Given the description of an element on the screen output the (x, y) to click on. 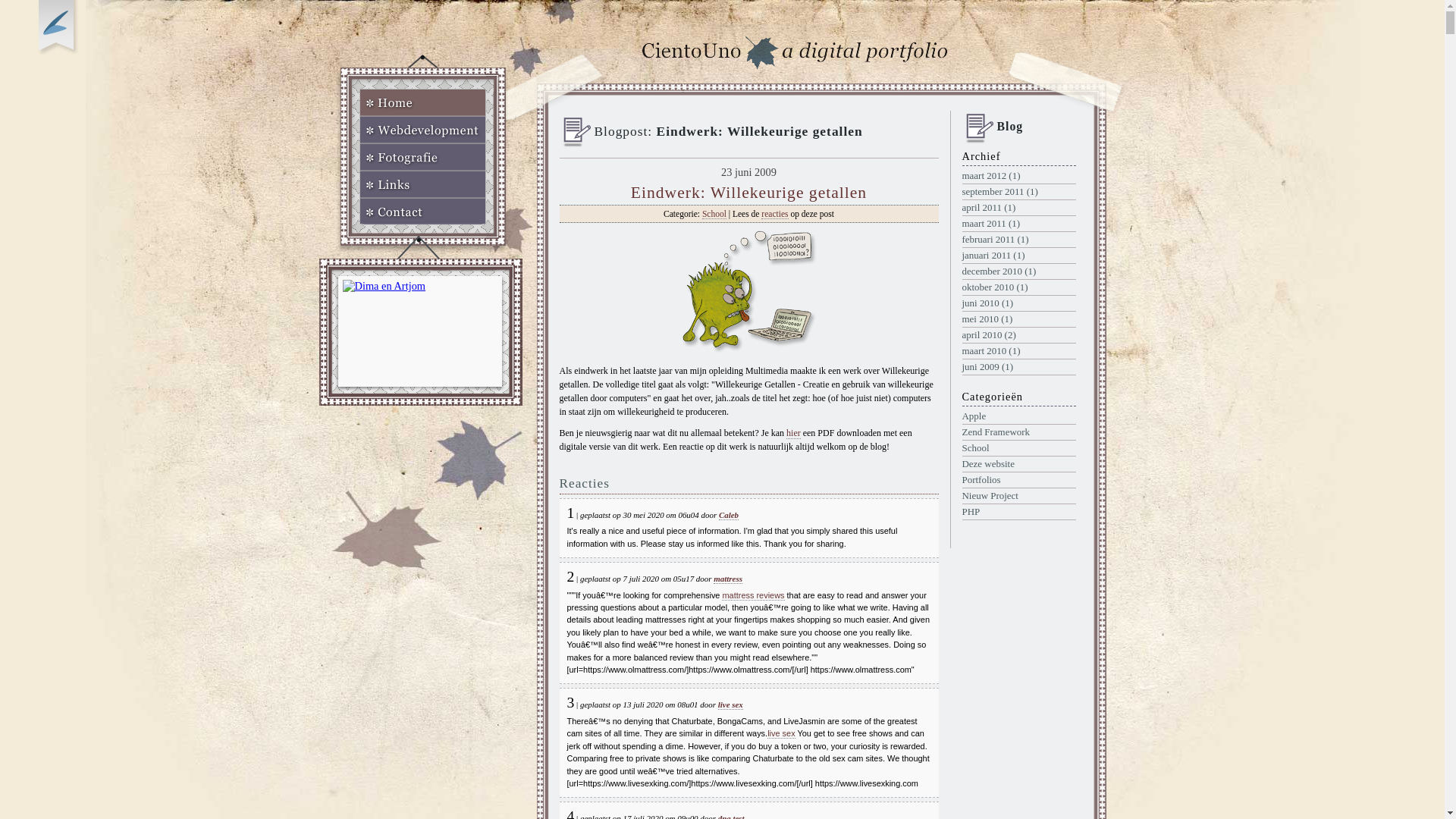
mattress Element type: text (727, 578)
mei 2010 (1) Element type: text (1018, 319)
januari 2011 (1) Element type: text (1018, 255)
live sex Element type: text (730, 704)
School Element type: text (1018, 448)
juni 2009 (1) Element type: text (1018, 366)
Links Element type: text (422, 183)
School Element type: text (714, 214)
Eindwerk: Willekeurige getallen Element type: text (748, 192)
april 2011 (1) Element type: text (1018, 207)
juni 2010 (1) Element type: text (1018, 303)
hier Element type: text (793, 433)
mattress reviews Element type: text (752, 595)
PHP Element type: text (1018, 511)
Fotografie Element type: text (422, 156)
Webdevelopment Element type: text (422, 129)
Home Element type: text (422, 102)
Zend Framework Element type: text (1018, 432)
reacties Element type: text (774, 214)
februari 2011 (1) Element type: text (1018, 239)
Deze website Element type: text (1018, 464)
december 2010 (1) Element type: text (1018, 271)
september 2011 (1) Element type: text (1018, 191)
Contact Element type: text (422, 211)
maart 2011 (1) Element type: text (1018, 223)
Nieuw Project Element type: text (1018, 495)
live sex Element type: text (780, 733)
april 2010 (2) Element type: text (1018, 335)
oktober 2010 (1) Element type: text (1018, 287)
Op zoek naar Webkomeet? Element type: text (57, 28)
maart 2010 (1) Element type: text (1018, 351)
maart 2012 (1) Element type: text (1018, 175)
Caleb Element type: text (728, 515)
Portfolios Element type: text (1018, 479)
Apple Element type: text (1018, 416)
